Given the description of an element on the screen output the (x, y) to click on. 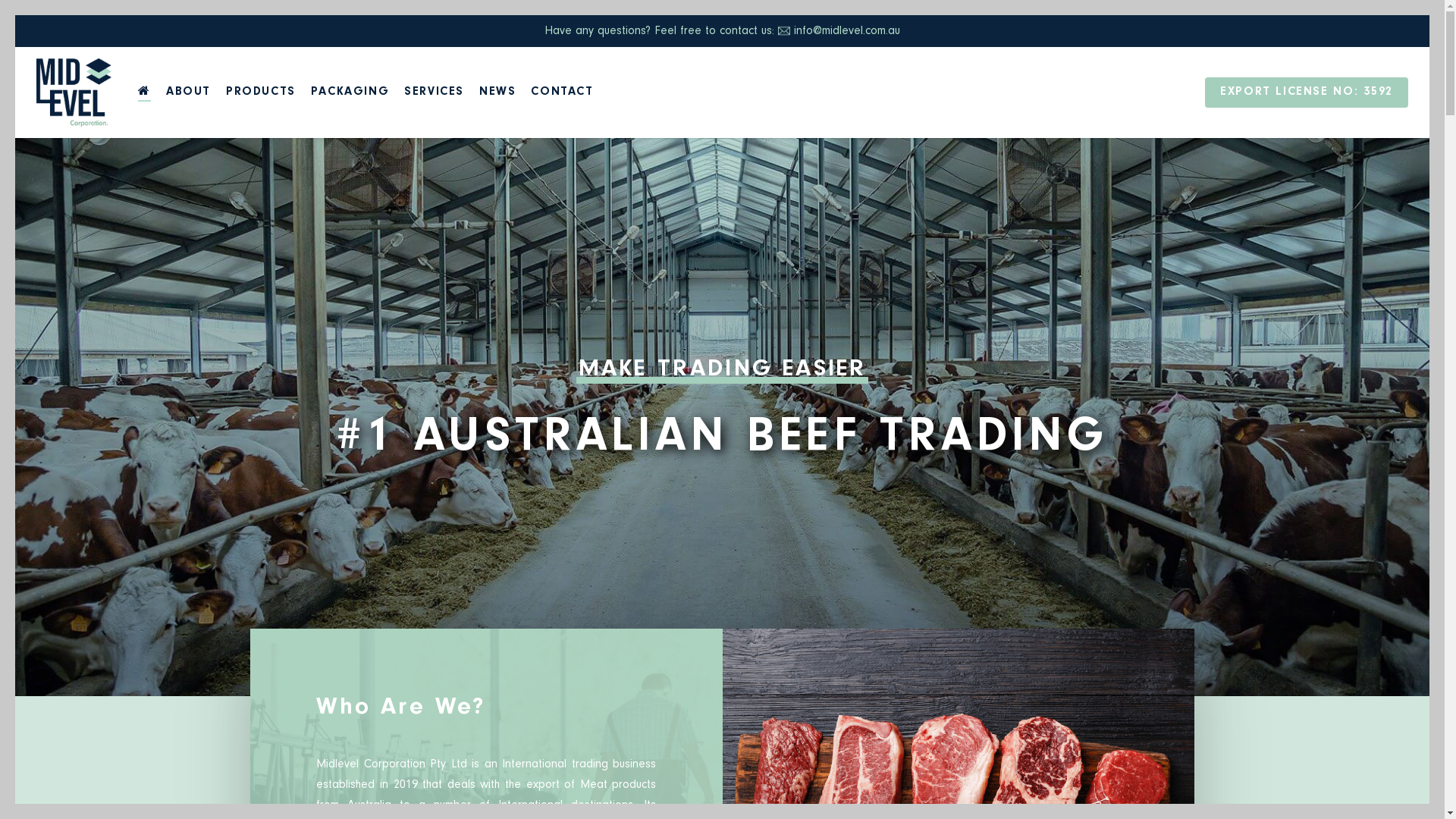
CONTACT Element type: text (561, 92)
EXPORT LICENSE NO: 3592 Element type: text (1306, 92)
ABOUT Element type: text (188, 92)
NEWS Element type: text (497, 92)
SERVICES Element type: text (434, 92)
PACKAGING Element type: text (349, 92)
PRODUCTS Element type: text (260, 92)
